Given the description of an element on the screen output the (x, y) to click on. 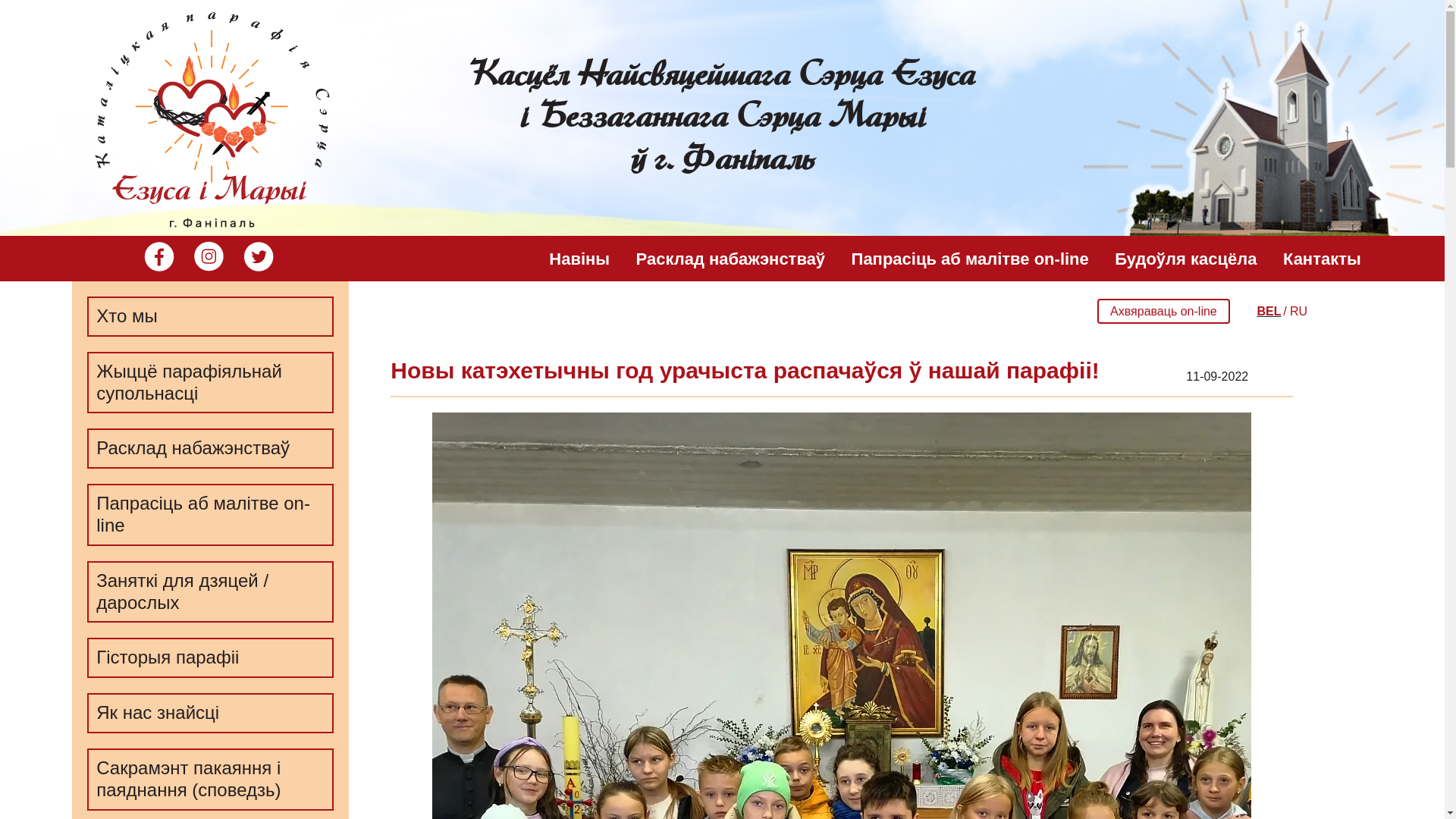
BEL Element type: text (1268, 310)
RU Element type: text (1298, 310)
